Given the description of an element on the screen output the (x, y) to click on. 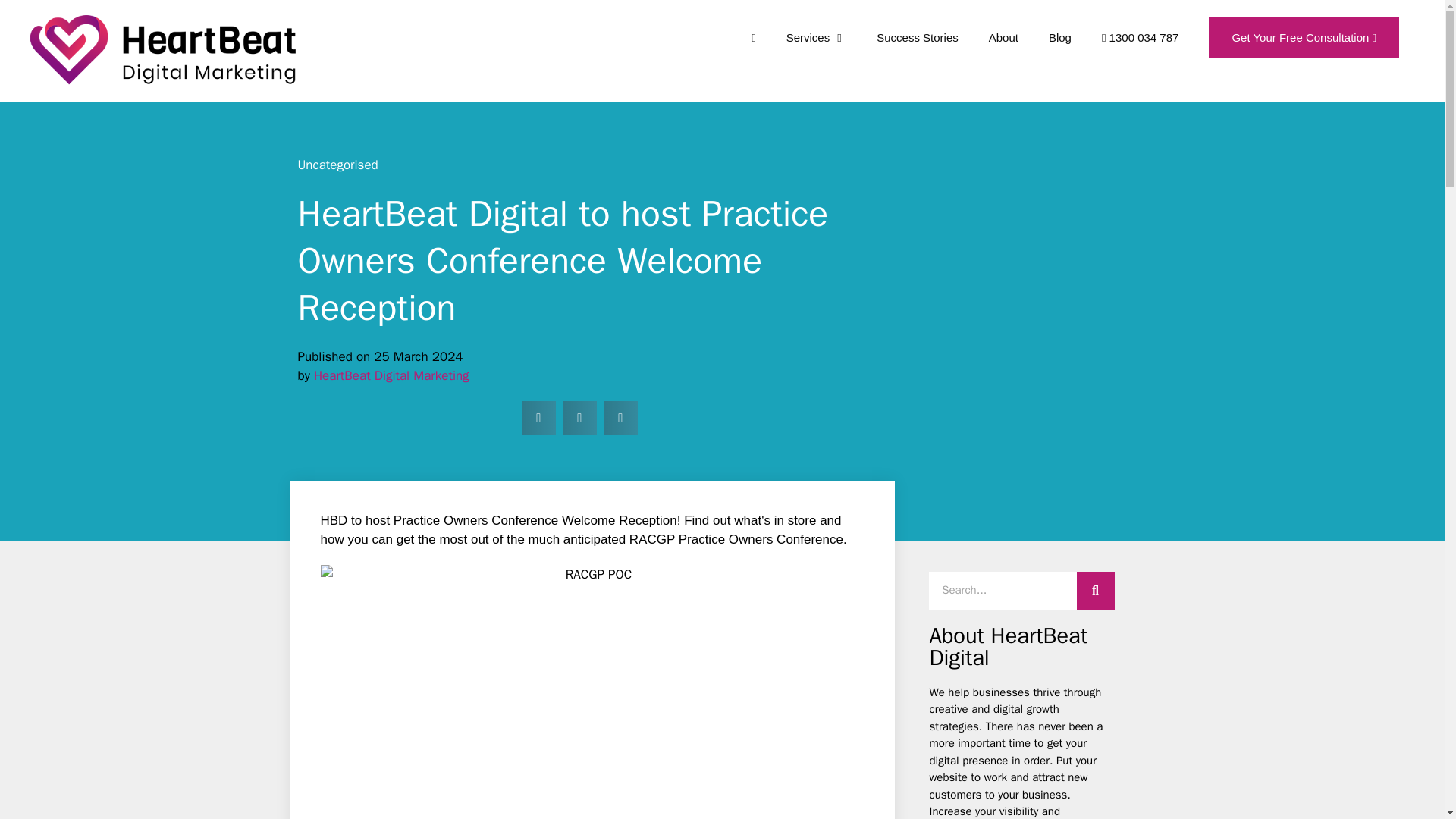
Blog (1059, 37)
1300 034 787 (1139, 37)
Services (816, 37)
Uncategorised (337, 164)
HeartBeat Digital Marketing (391, 375)
Success Stories (917, 37)
Get Your Free Consultation (1303, 37)
About (1003, 37)
